Given the description of an element on the screen output the (x, y) to click on. 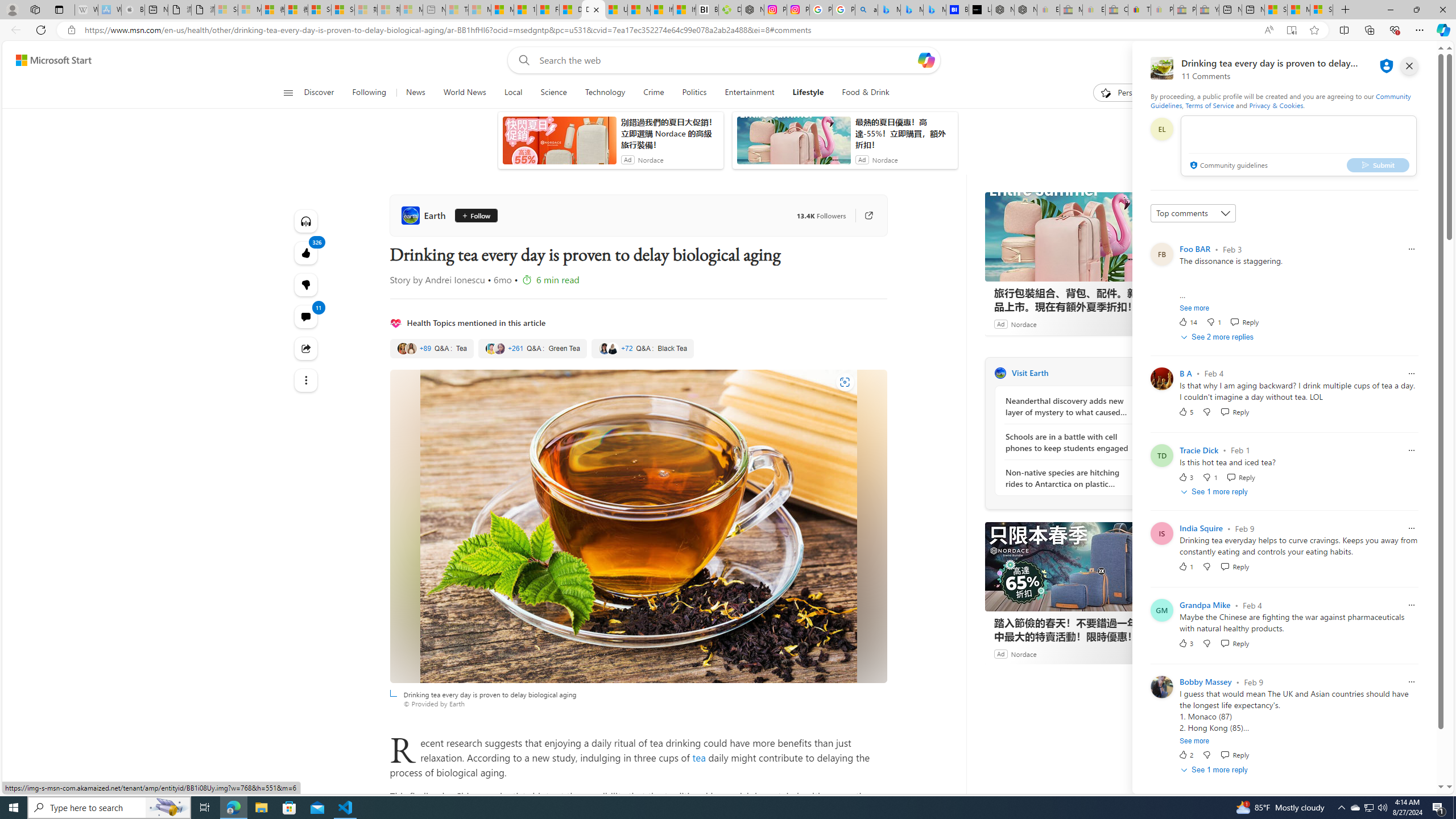
anim-content (793, 144)
Following (368, 92)
New tab - Sleeping (433, 9)
Settings and more (Alt+F) (1419, 29)
Nordace (1023, 653)
Personalize (1128, 92)
Enter Immersive Reader (F9) (1291, 29)
326 (305, 284)
Local (513, 92)
